Given the description of an element on the screen output the (x, y) to click on. 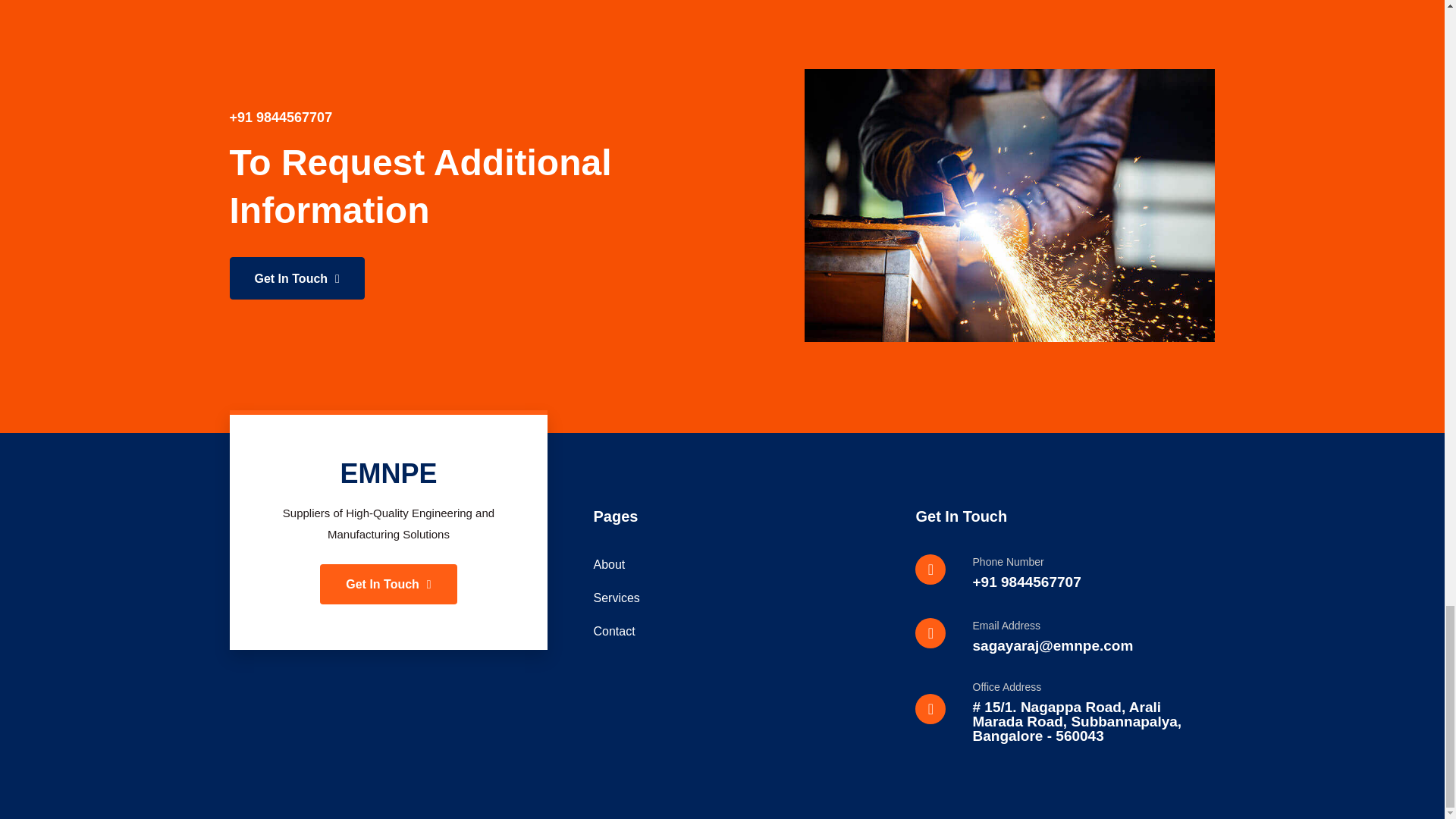
Contact (736, 631)
Get In Touch (296, 278)
Get In Touch (388, 584)
Services (736, 598)
About (736, 564)
